Given the description of an element on the screen output the (x, y) to click on. 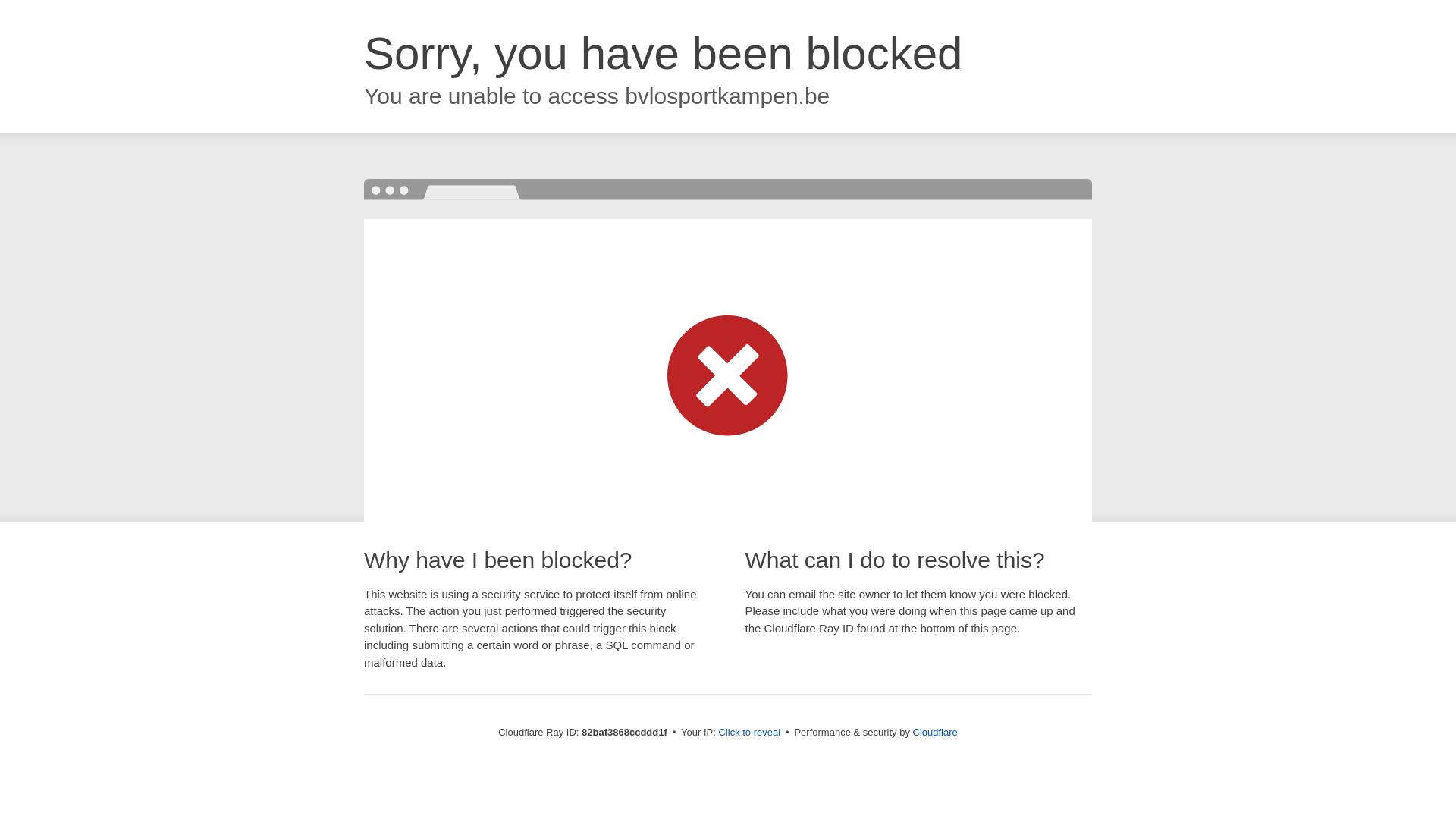
Click to reveal Element type: text (749, 732)
Cloudflare Element type: text (935, 731)
